Given the description of an element on the screen output the (x, y) to click on. 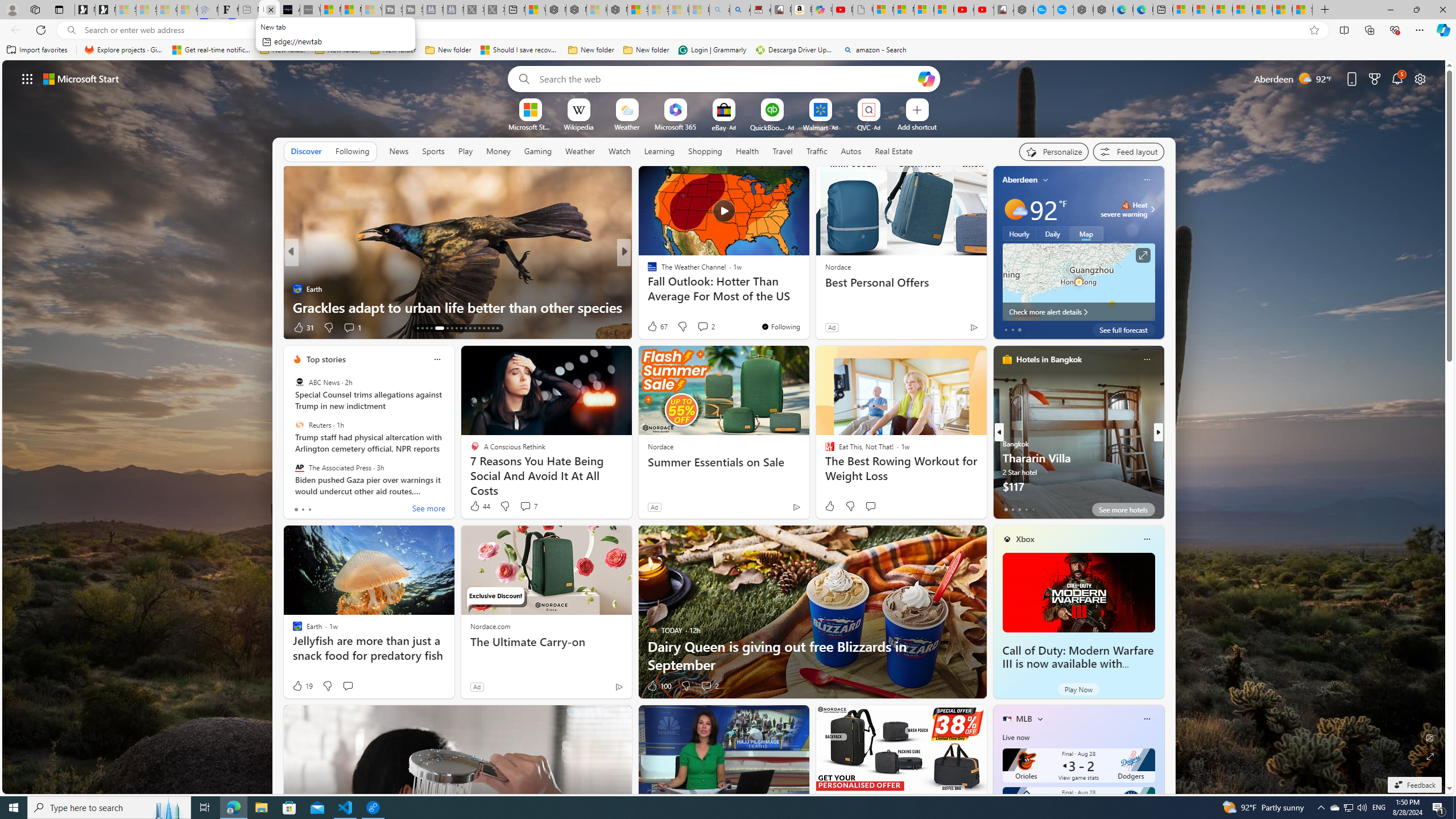
Wildlife - MSN (534, 9)
AutomationID: tab-26 (465, 328)
100 Like (658, 685)
Enter your search term (726, 78)
App bar (728, 29)
Top stories (325, 359)
Summer Essentials on Sale (723, 462)
Hourly (1018, 233)
AutomationID: backgroundImagePicture (723, 426)
View comments 4 Comment (698, 327)
